Given the description of an element on the screen output the (x, y) to click on. 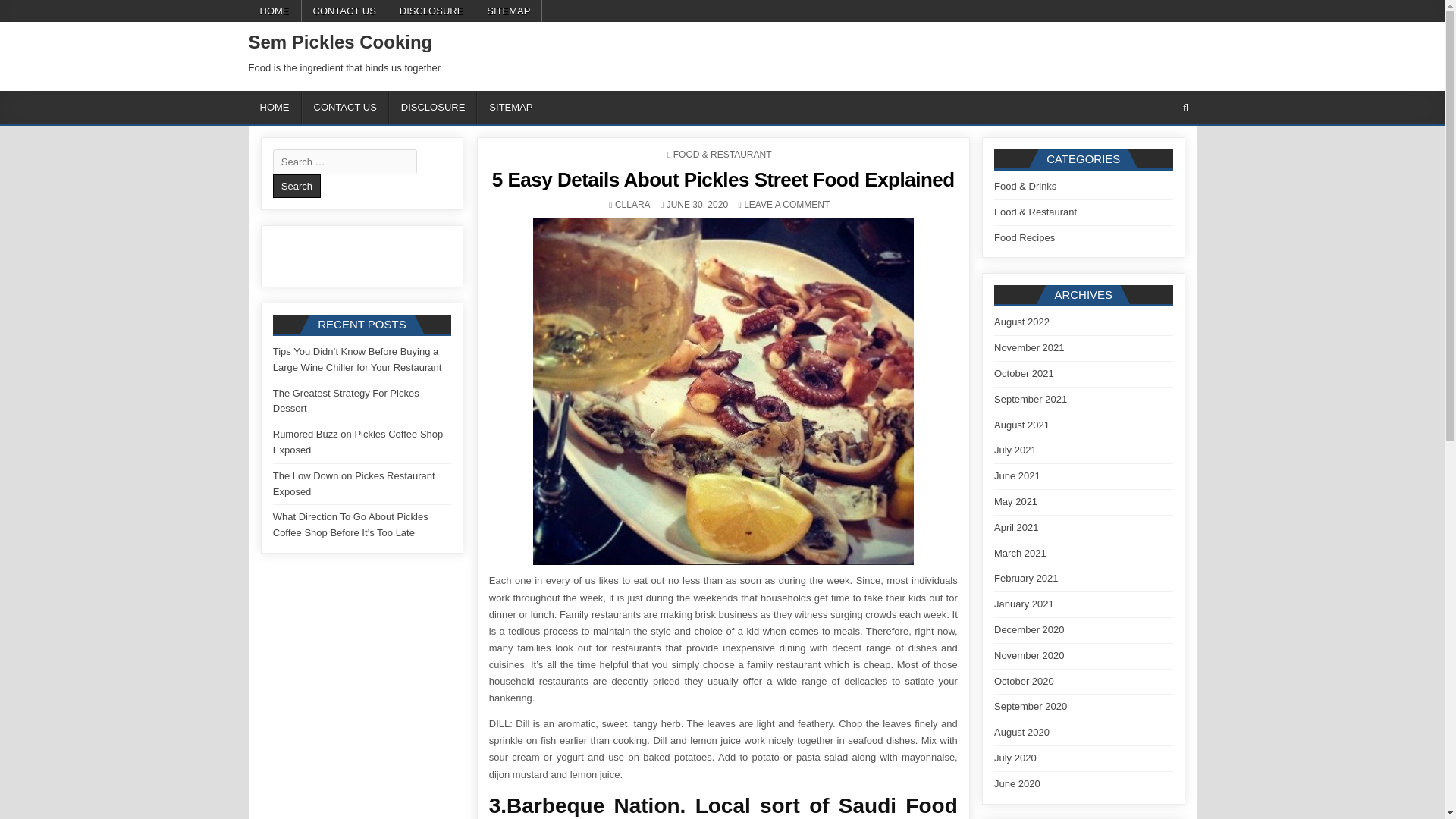
Rumored Buzz on Pickles Coffee Shop Exposed (358, 441)
DISCLOSURE (432, 106)
Search (296, 186)
CONTACT US (344, 11)
DISCLOSURE (432, 11)
Food Recipes (1024, 237)
November 2021 (1029, 347)
HOME (274, 11)
The Greatest Strategy For Pickes Dessert (346, 400)
HOME (632, 204)
SITEMAP (274, 106)
SITEMAP (508, 11)
Sem Pickles Cooking (510, 106)
5 Easy Details About Pickles Street Food Explained (340, 41)
